Given the description of an element on the screen output the (x, y) to click on. 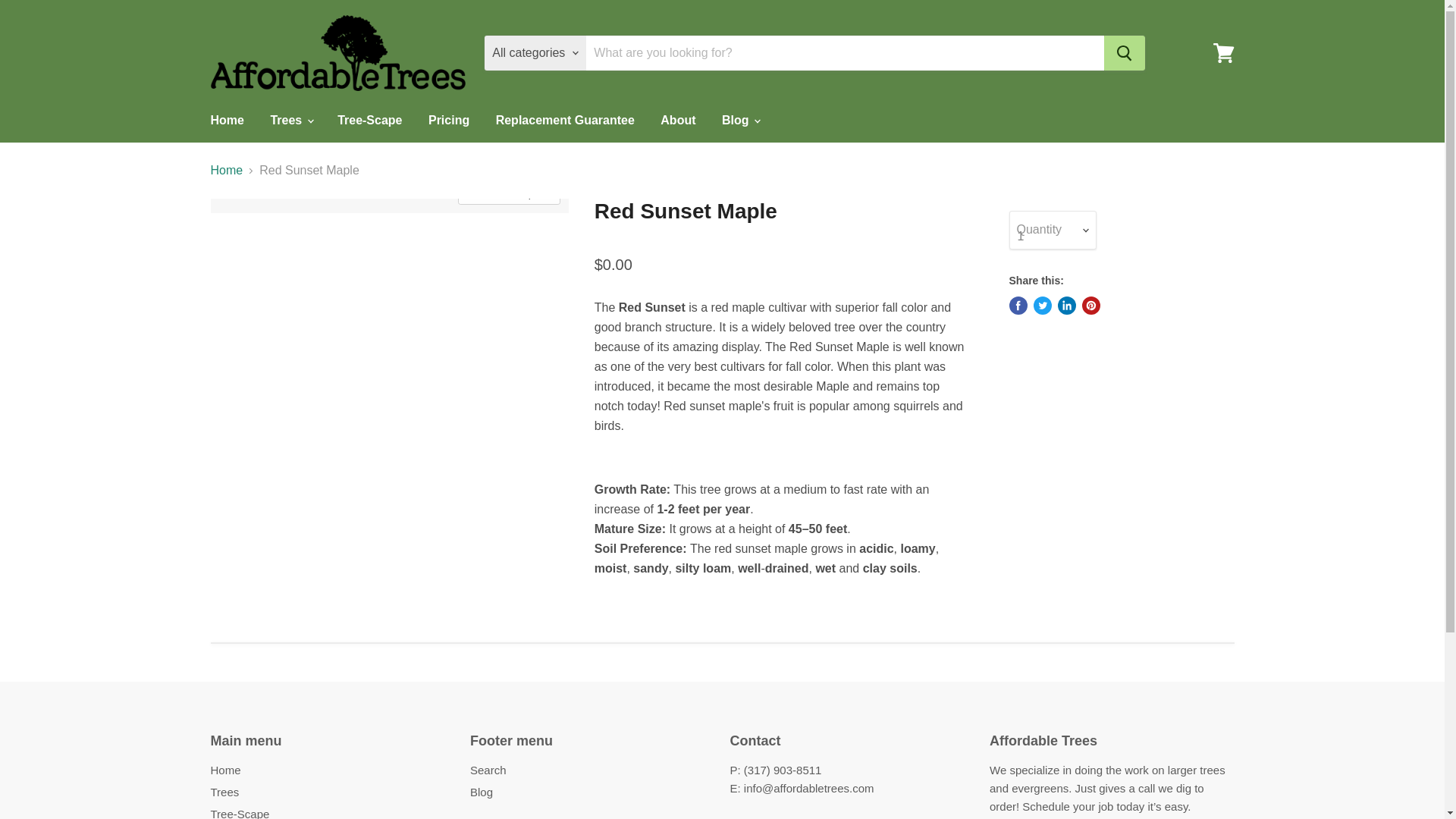
Replacement Guarantee (565, 120)
About (677, 120)
Trees (290, 120)
Home (226, 120)
View cart (1223, 53)
Tree-Scape (369, 120)
Pricing (448, 120)
Blog (740, 120)
